Given the description of an element on the screen output the (x, y) to click on. 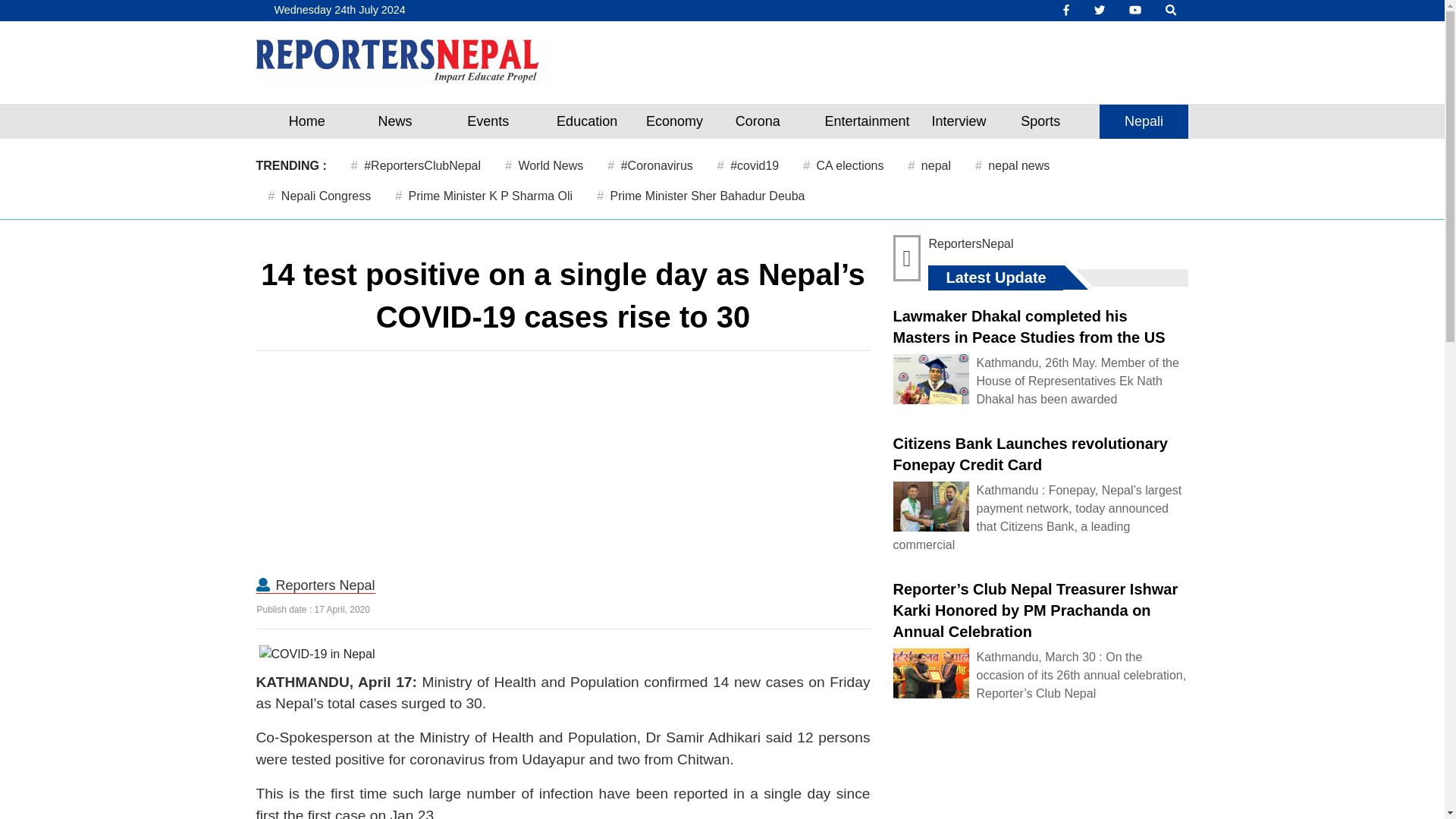
Reporters Nepal (325, 585)
Nepali (1144, 121)
Events (488, 121)
Corona (756, 121)
Posts by Reporters Nepal (325, 585)
Education (587, 121)
Entertainment (866, 121)
Interview (958, 121)
Sports (1040, 121)
Home (307, 121)
News (394, 121)
Wednesday 24th July 2024 (336, 10)
Economy (674, 121)
ReportersNepal (970, 243)
